Given the description of an element on the screen output the (x, y) to click on. 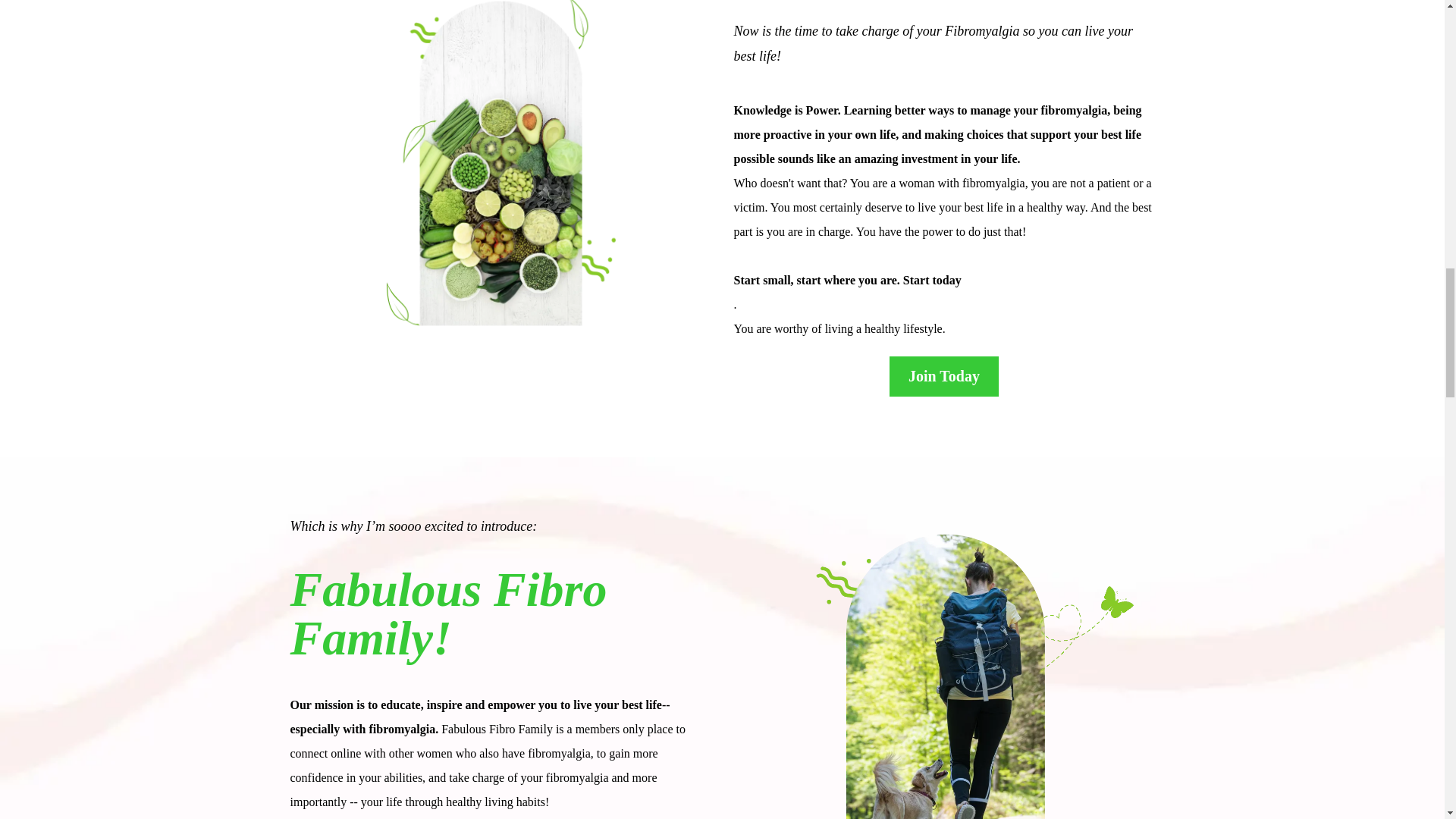
Join Today (943, 376)
